Given the description of an element on the screen output the (x, y) to click on. 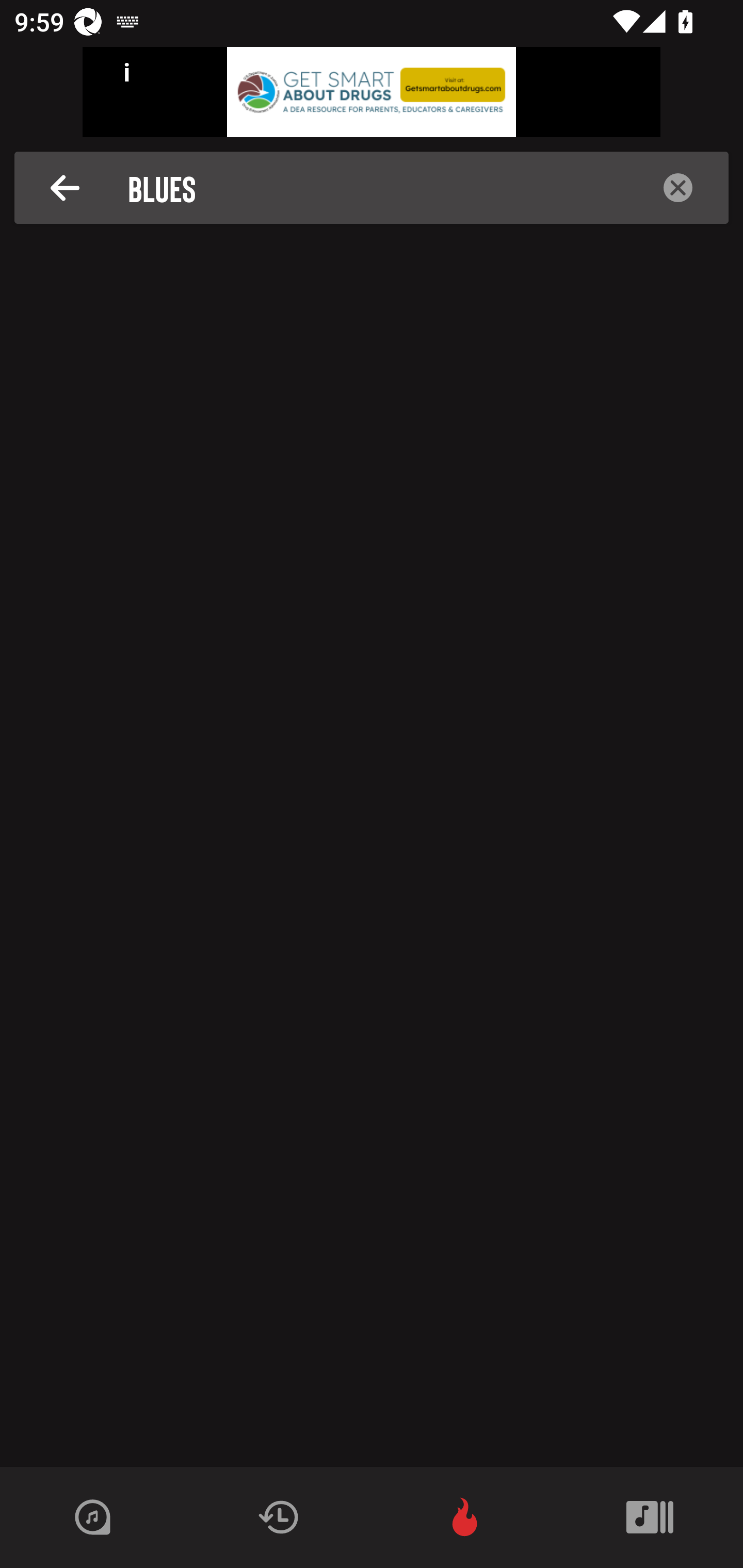
Blues (377, 188)
Description (64, 188)
Description (677, 188)
